Given the description of an element on the screen output the (x, y) to click on. 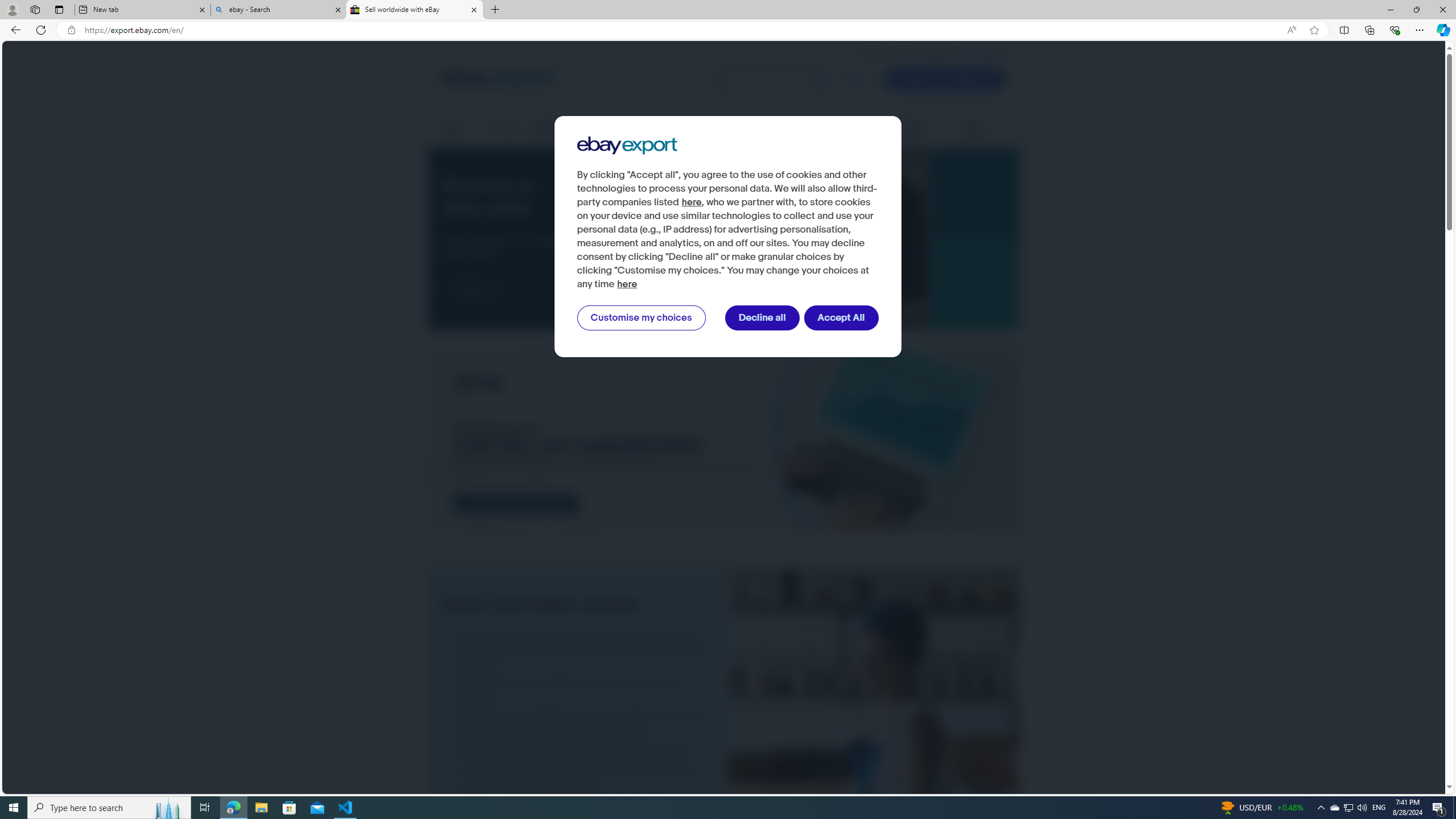
Class: btn__arrow (501, 288)
Regulations & policies (803, 128)
Collections (1369, 29)
Refresh (40, 29)
Back (13, 29)
View site information (70, 29)
Class: header__logo (498, 79)
SEA (989, 53)
Customise my choices (641, 317)
First steps (457, 128)
Close (1442, 9)
Shipping (503, 127)
